Given the description of an element on the screen output the (x, y) to click on. 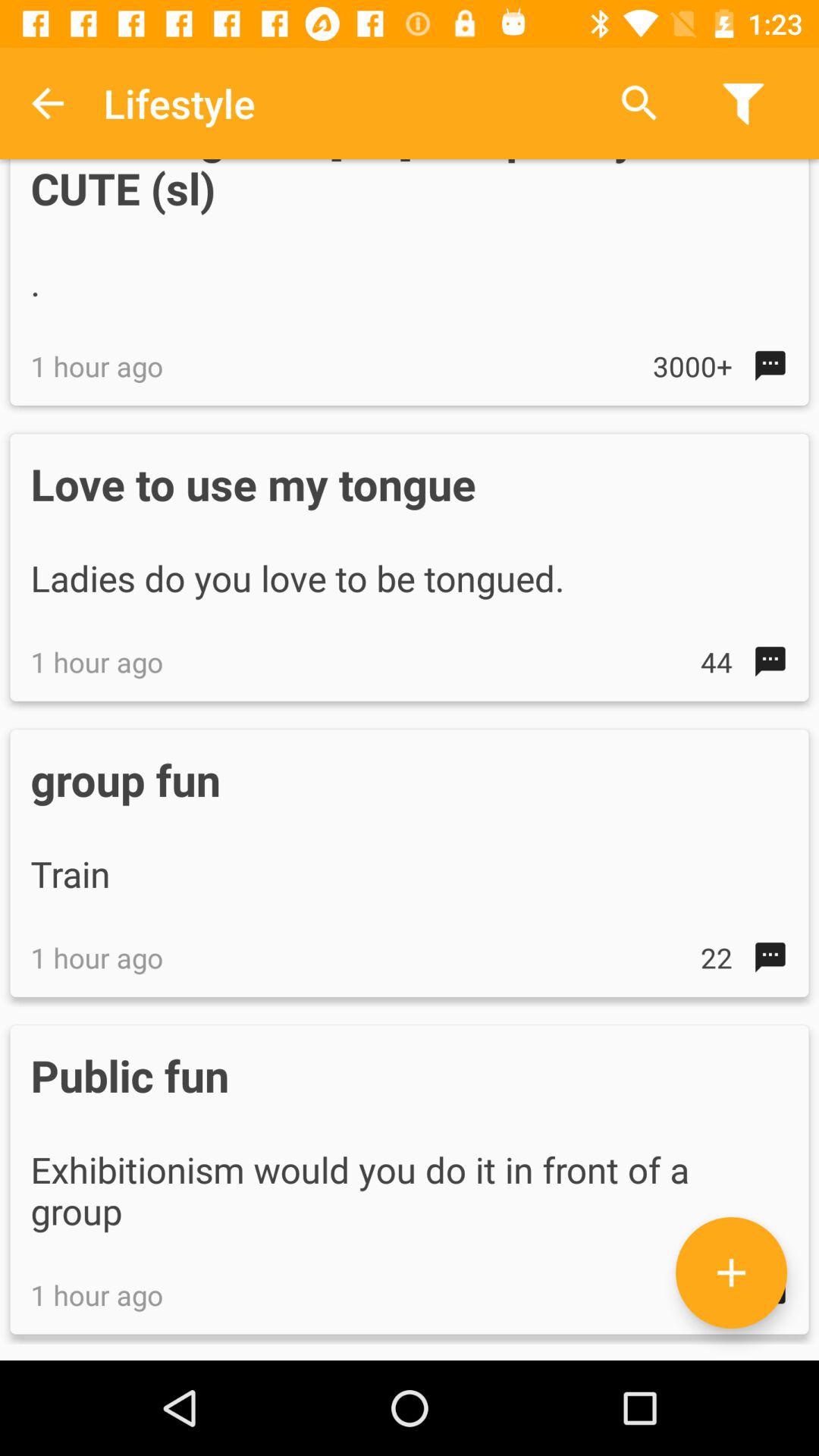
tap icon above the all aboriginals 0 icon (47, 103)
